Given the description of an element on the screen output the (x, y) to click on. 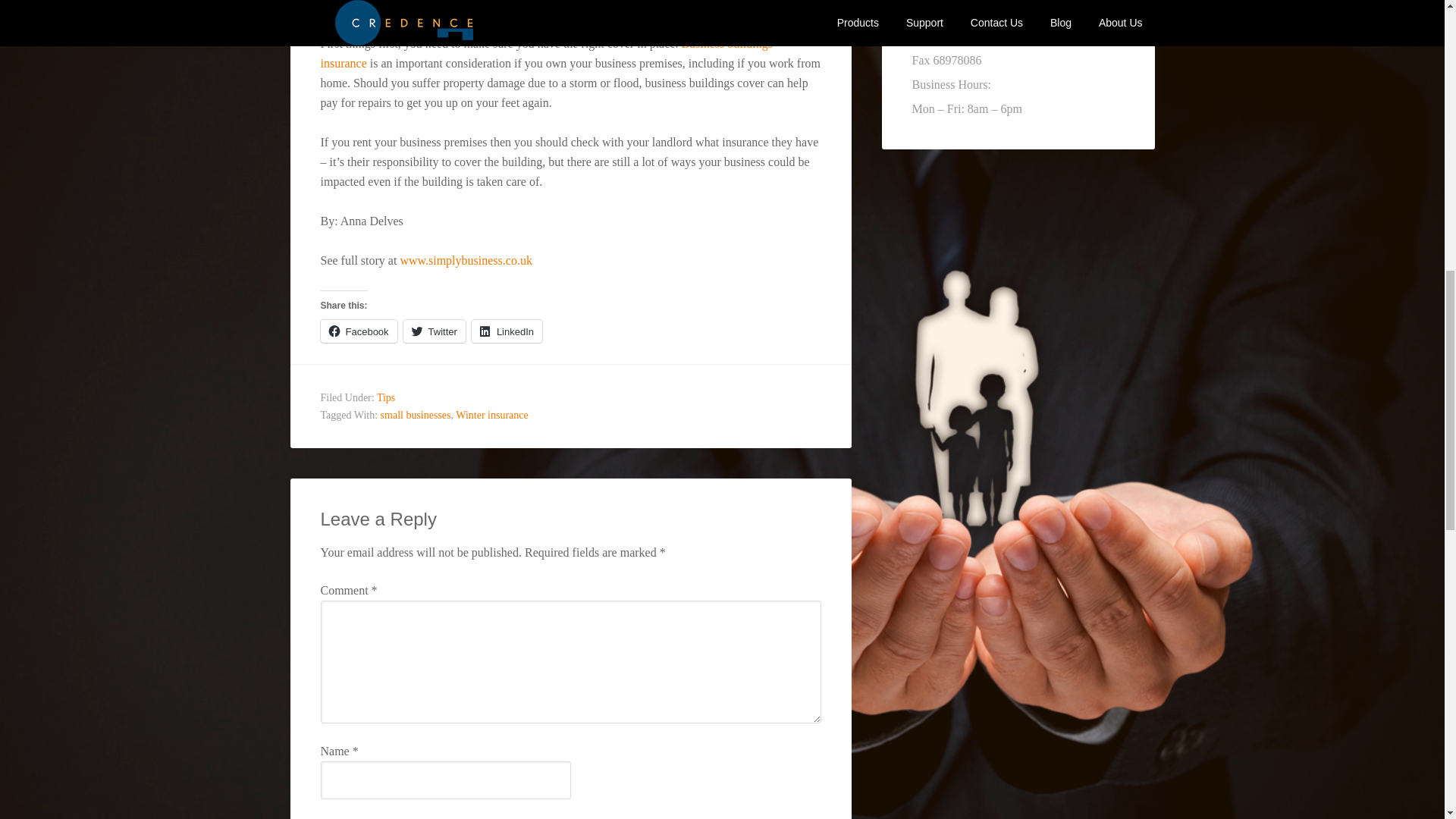
Click to share on LinkedIn (506, 331)
Business buildings insurance (545, 52)
Twitter (434, 331)
small businesses (415, 414)
Facebook (358, 331)
Click to share on Twitter (434, 331)
www.simplybusiness.co.uk (465, 259)
LinkedIn (506, 331)
Winter insurance (491, 414)
Click to share on Facebook (358, 331)
Tips (385, 397)
